Given the description of an element on the screen output the (x, y) to click on. 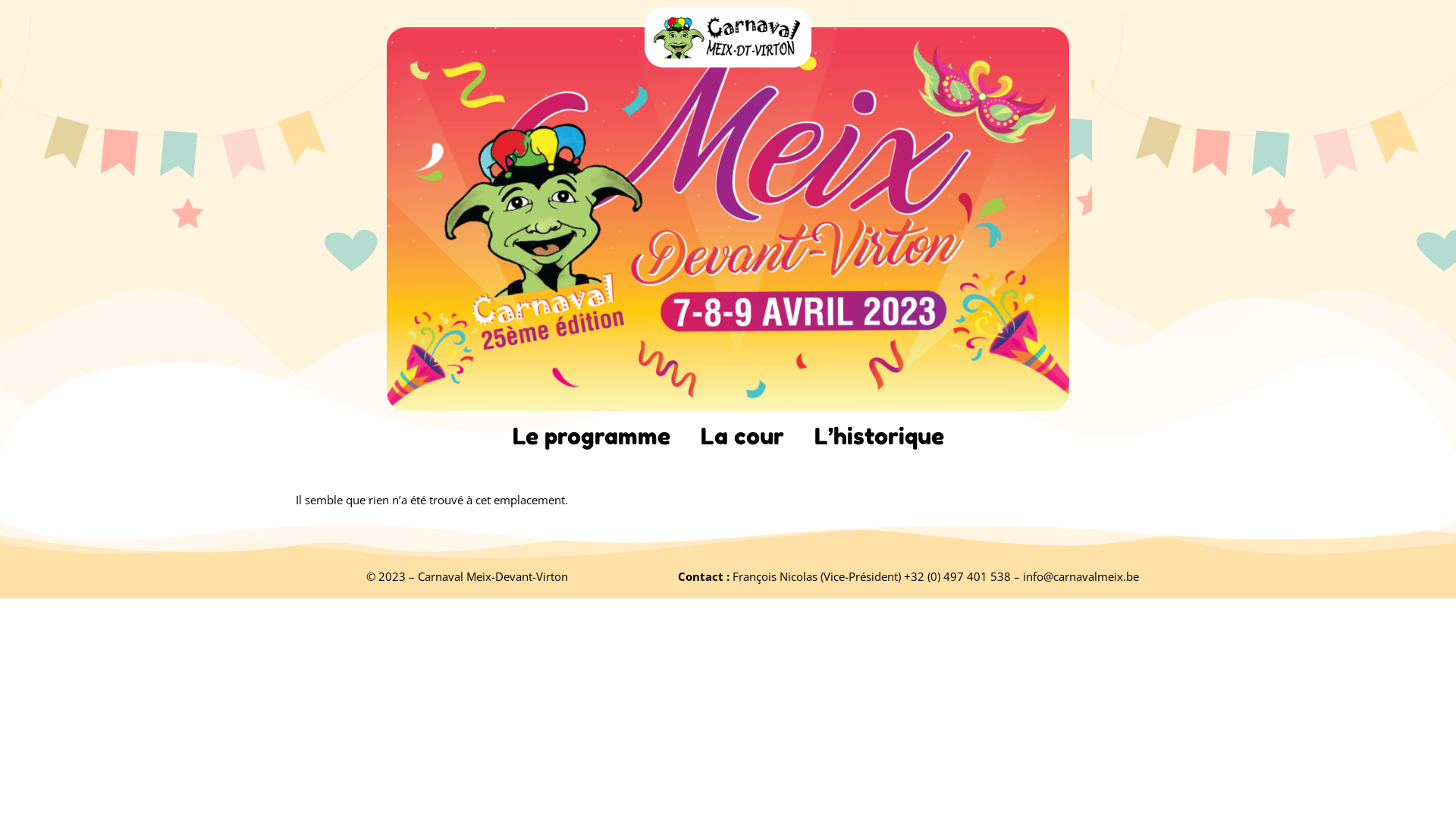
Le programme Element type: text (591, 435)
info@carnavalmeix.be Element type: text (1080, 575)
La cour Element type: text (742, 435)
